Given the description of an element on the screen output the (x, y) to click on. 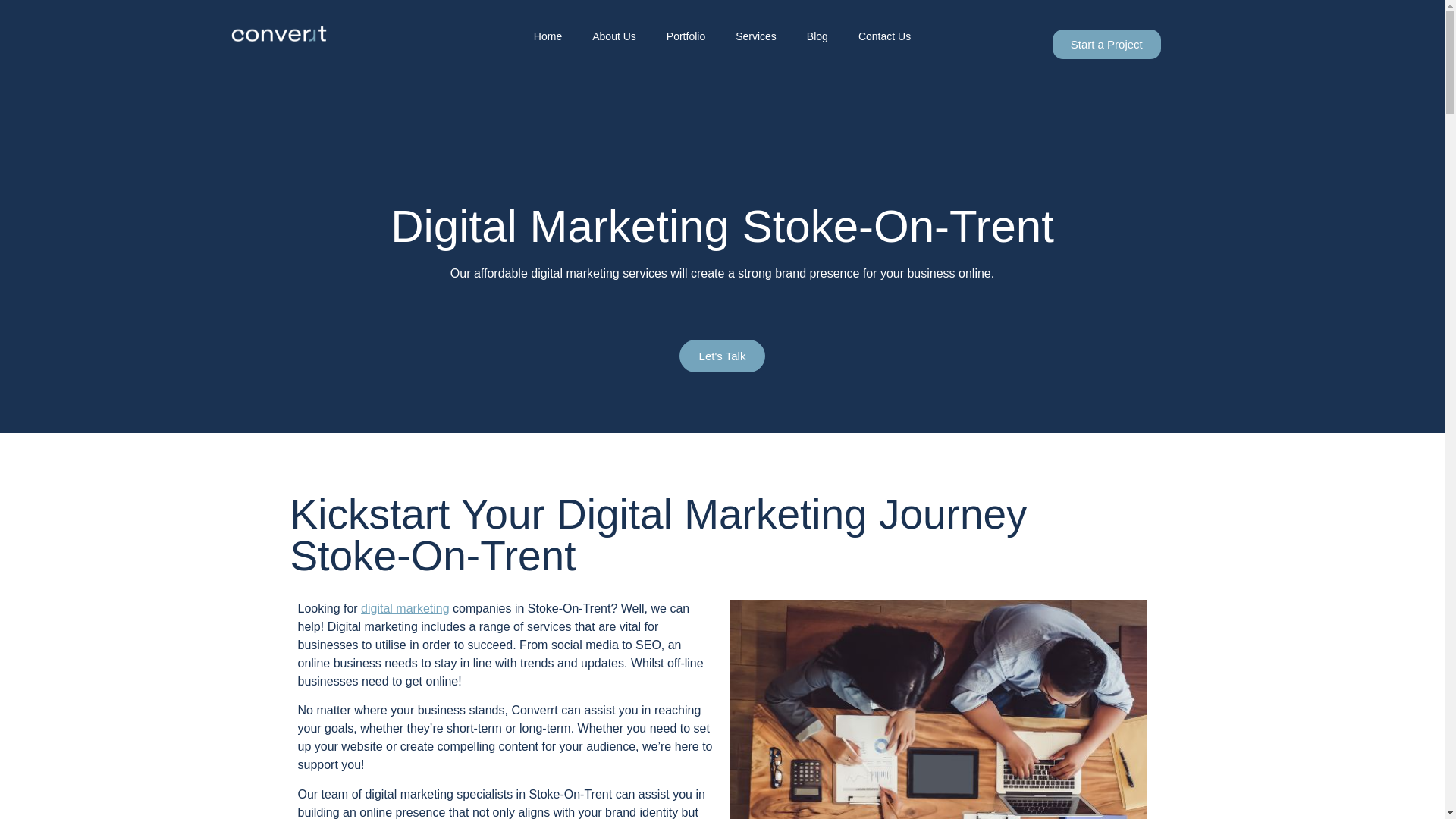
Contact Us (884, 36)
Portfolio (685, 36)
Blog (817, 36)
digital marketing (405, 608)
Services (756, 36)
Home (547, 36)
Start a Project (1106, 43)
About Us (613, 36)
Let's Talk (722, 355)
